Given the description of an element on the screen output the (x, y) to click on. 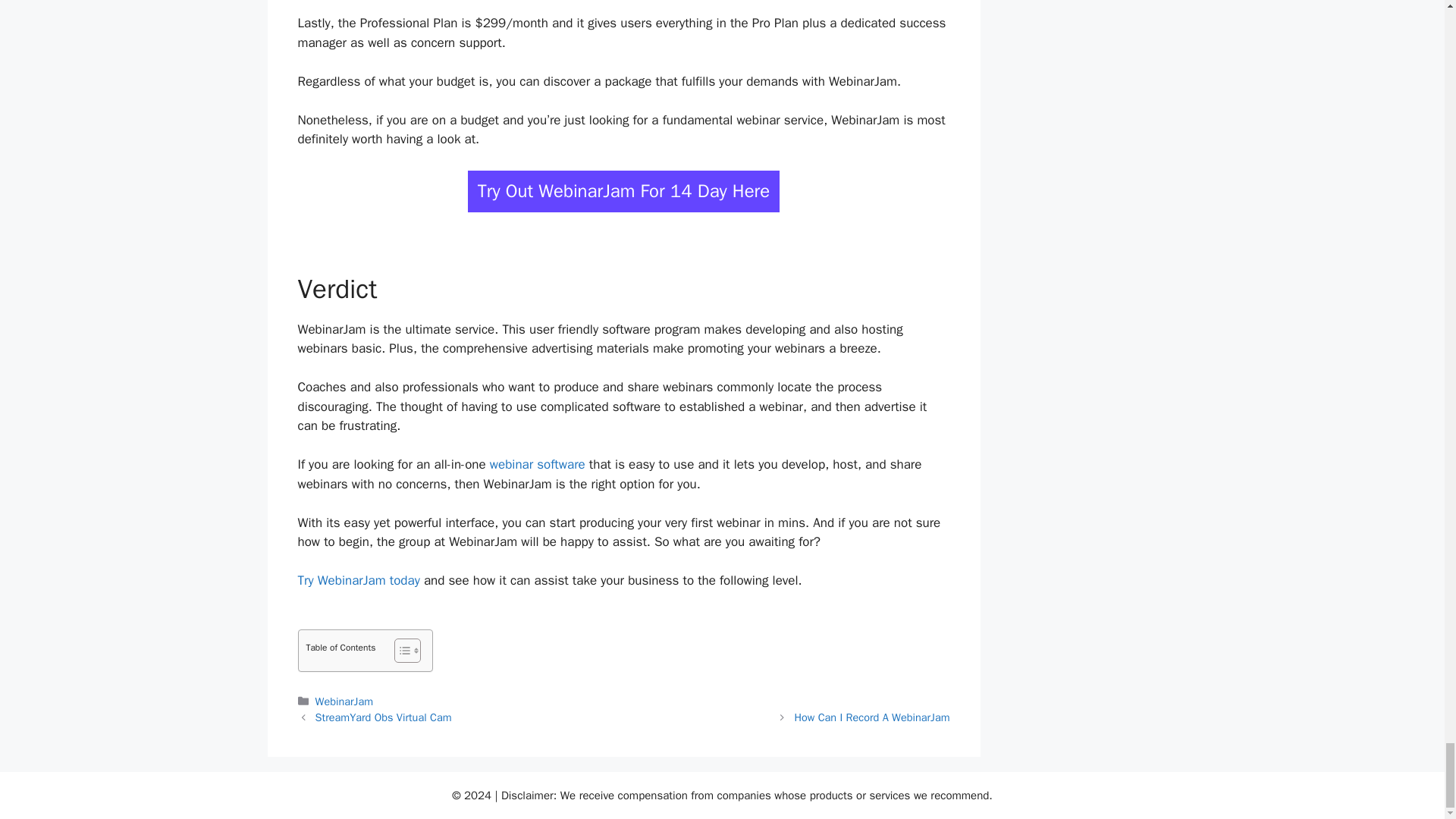
Try Out WebinarJam For 14 Day Here (622, 191)
Try WebinarJam today (358, 580)
webinar software (537, 464)
